Given the description of an element on the screen output the (x, y) to click on. 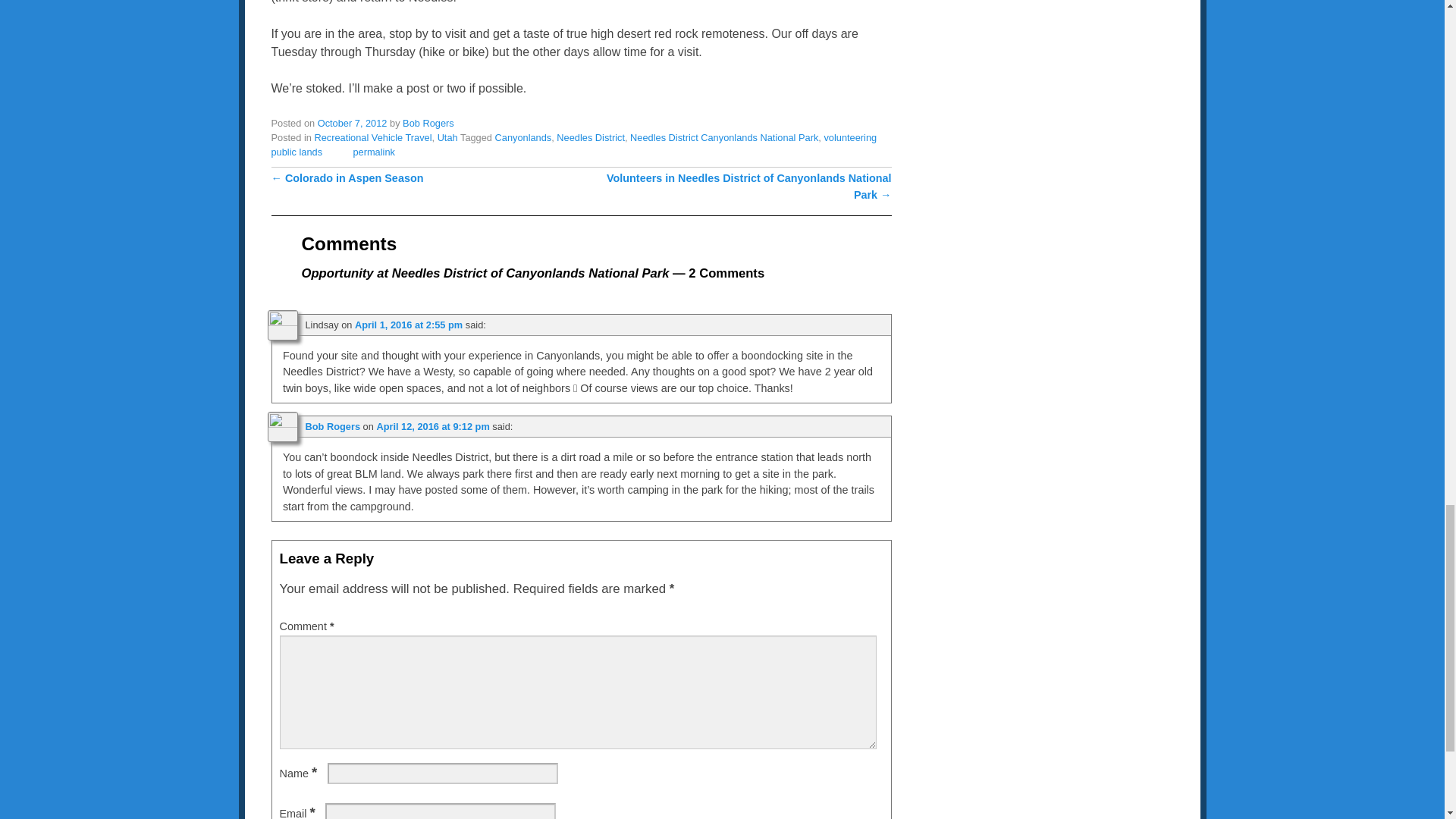
April 1, 2016 at 2:55 pm (409, 324)
volunteering public lands (573, 144)
permalink (373, 152)
Bob Rogers (428, 122)
Needles District (590, 137)
October 7, 2012 (352, 122)
Needles District Canyonlands National Park (724, 137)
Recreational Vehicle Travel (372, 137)
Canyonlands (523, 137)
Utah (448, 137)
